Given the description of an element on the screen output the (x, y) to click on. 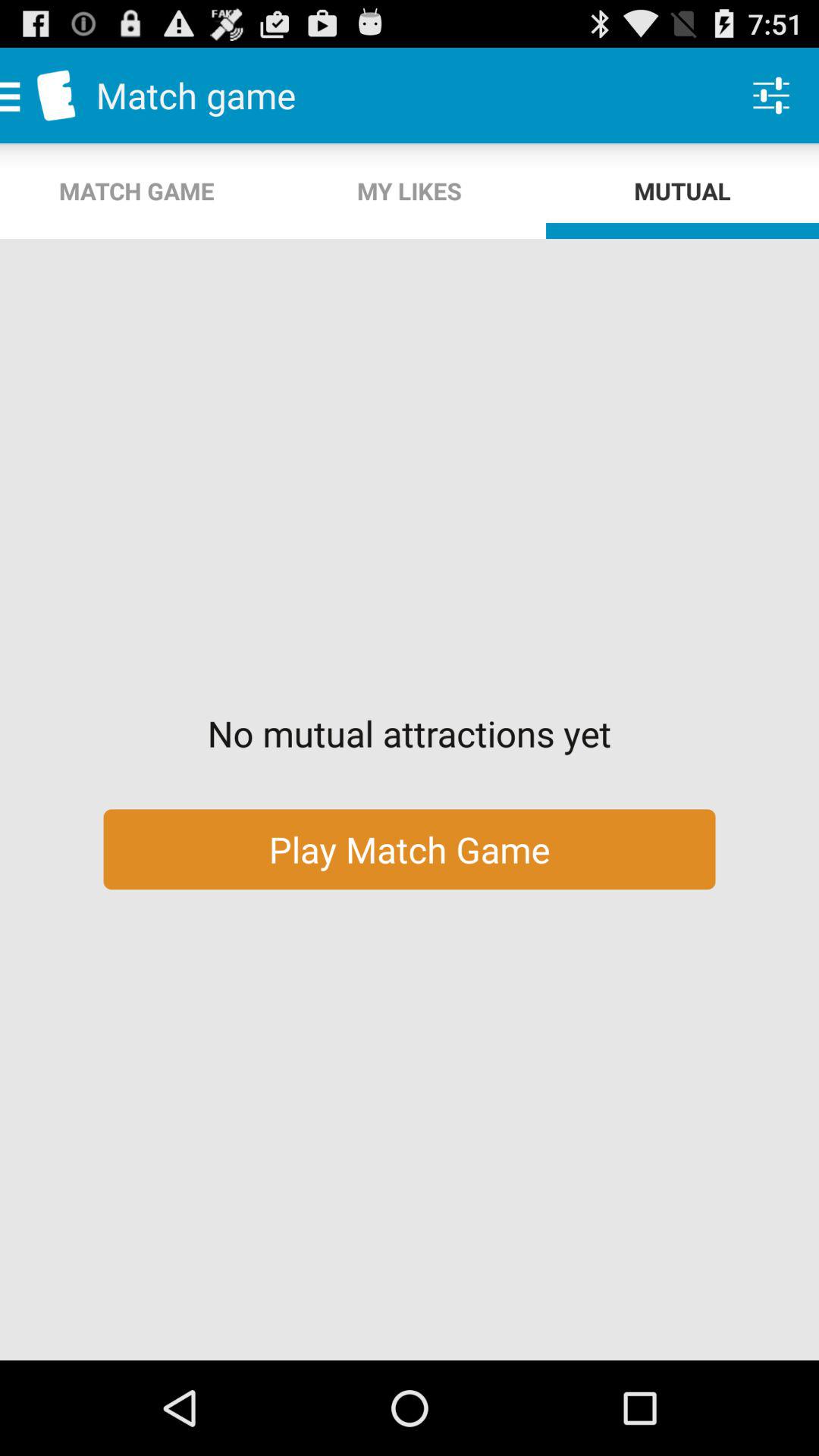
click the icon below the match game item (409, 190)
